Given the description of an element on the screen output the (x, y) to click on. 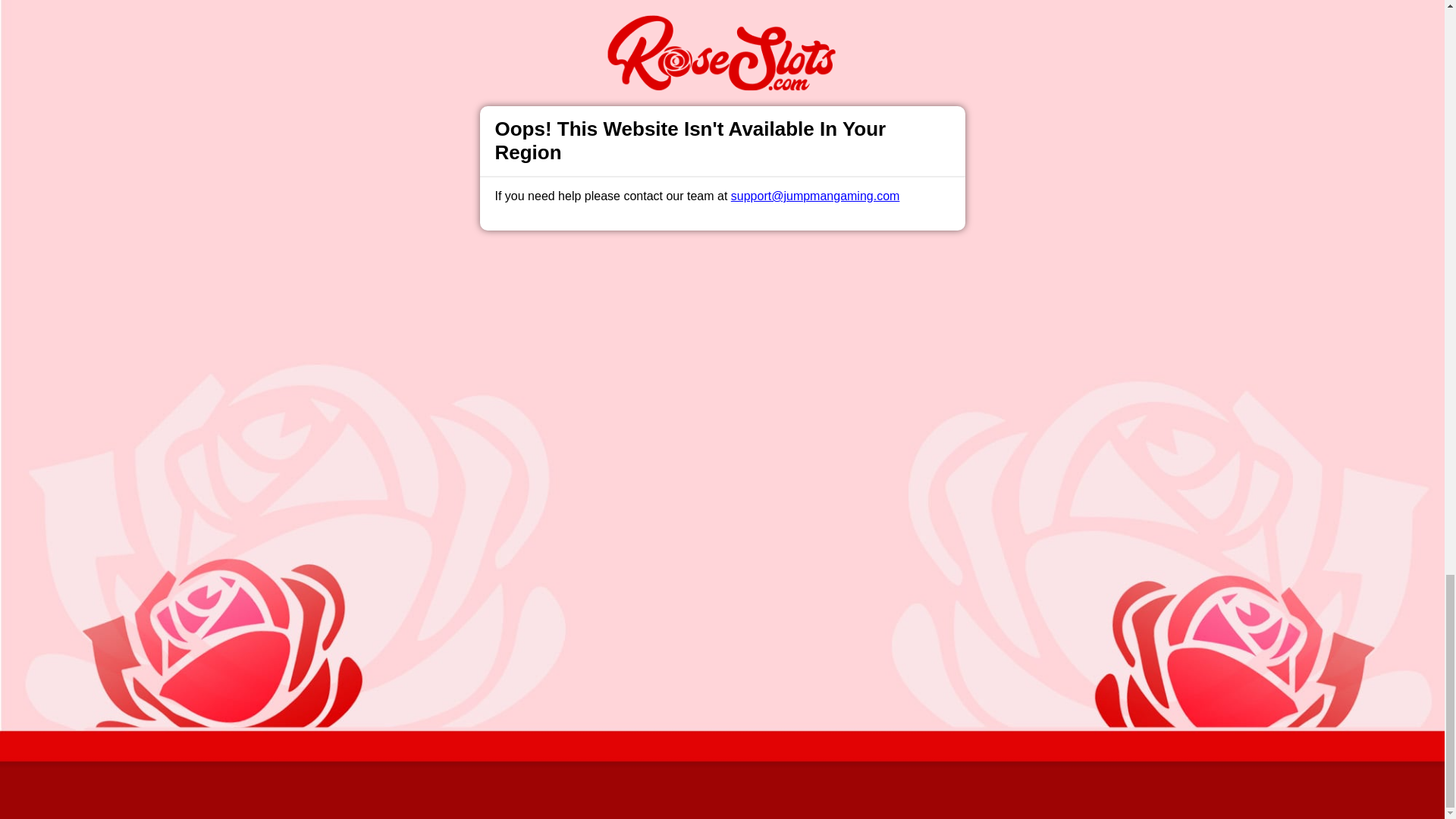
Back To All Games (722, 393)
Responsible Gaming (407, 491)
Help (489, 491)
www.jumpmancares.co.uk (738, 657)
Blog (738, 491)
Privacy Policy (671, 491)
www.begambleaware.org (615, 657)
Affiliates (791, 491)
Back To All Games (721, 393)
